Given the description of an element on the screen output the (x, y) to click on. 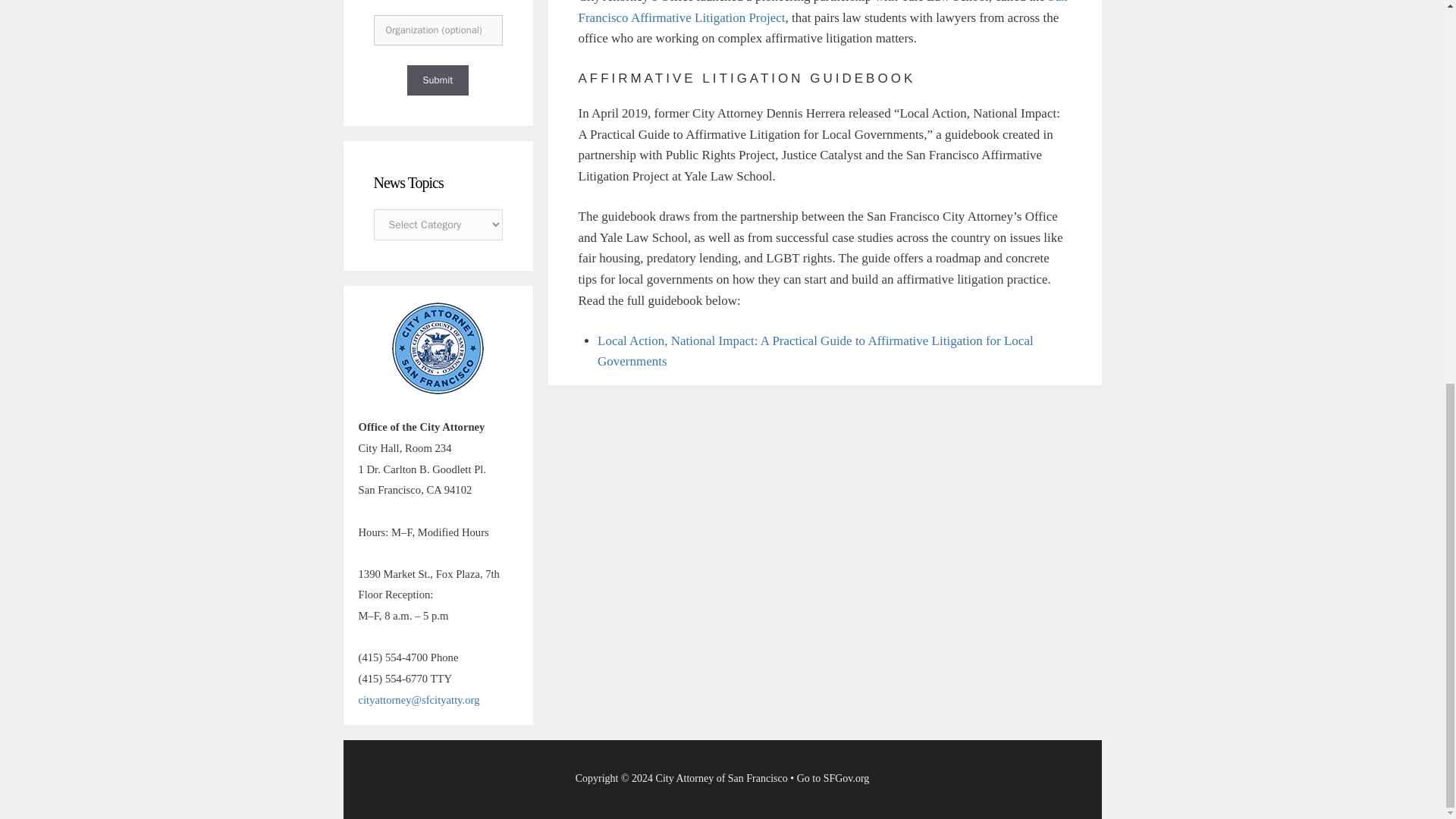
Submit (437, 80)
